Given the description of an element on the screen output the (x, y) to click on. 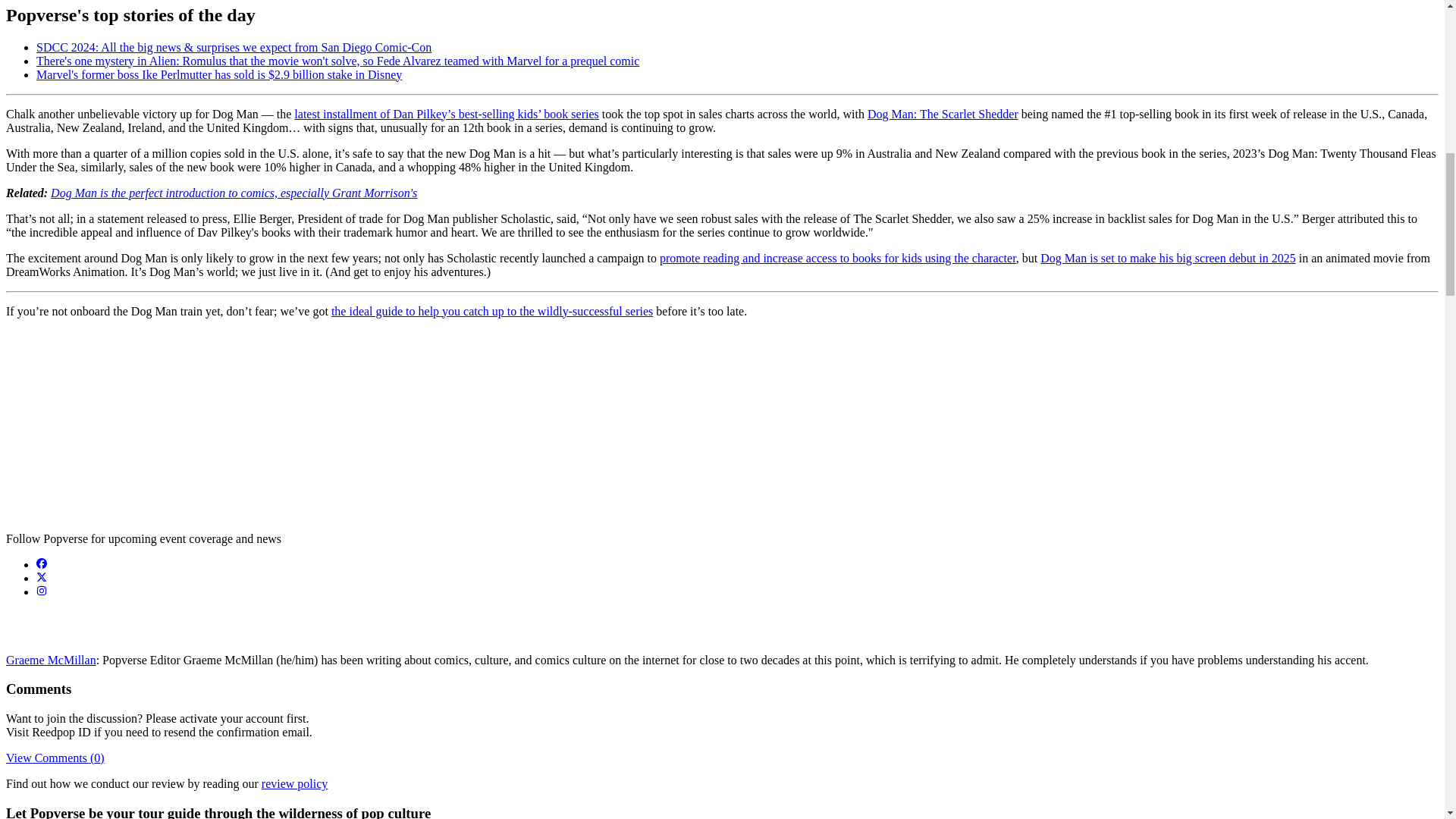
Dog Man: The Scarlet Shedder (942, 113)
review policy (295, 783)
Graeme McMillan (50, 659)
Dog Man is set to make his big screen debut in 2025 (1168, 257)
